Given the description of an element on the screen output the (x, y) to click on. 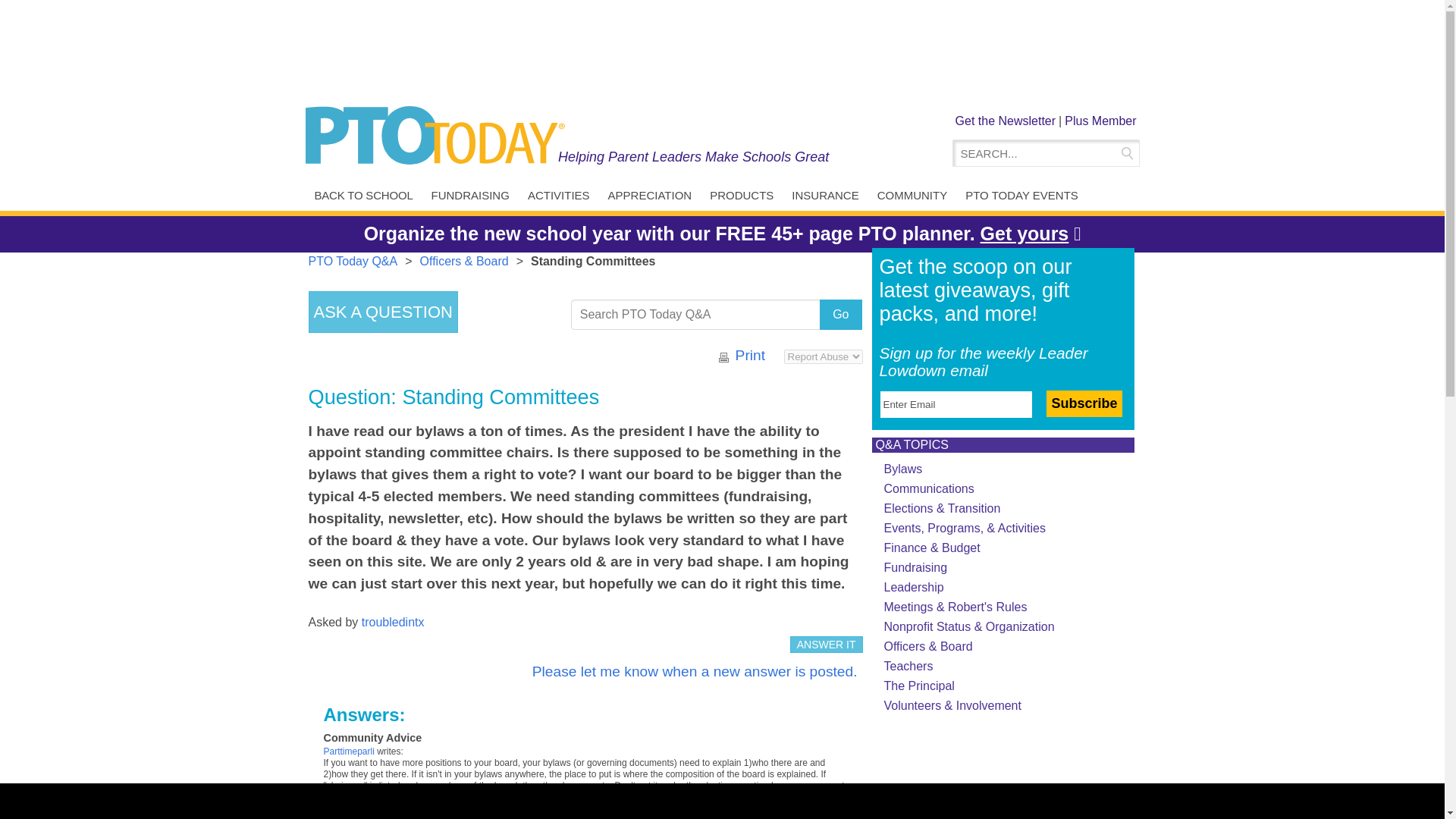
SEARCH... (1036, 153)
FUNDRAISING (470, 195)
Go (840, 314)
Enter Email (956, 404)
ACTIVITIES (558, 195)
Search (1125, 153)
BACK TO SCHOOL (363, 195)
SEARCH... (1036, 153)
Plus Member (1099, 121)
Print (750, 355)
Search (1125, 153)
APPRECIATION (649, 195)
Helping Parent Leaders Make Schools Great (692, 156)
Ask a Question (382, 311)
3rd party ad content (721, 52)
